Given the description of an element on the screen output the (x, y) to click on. 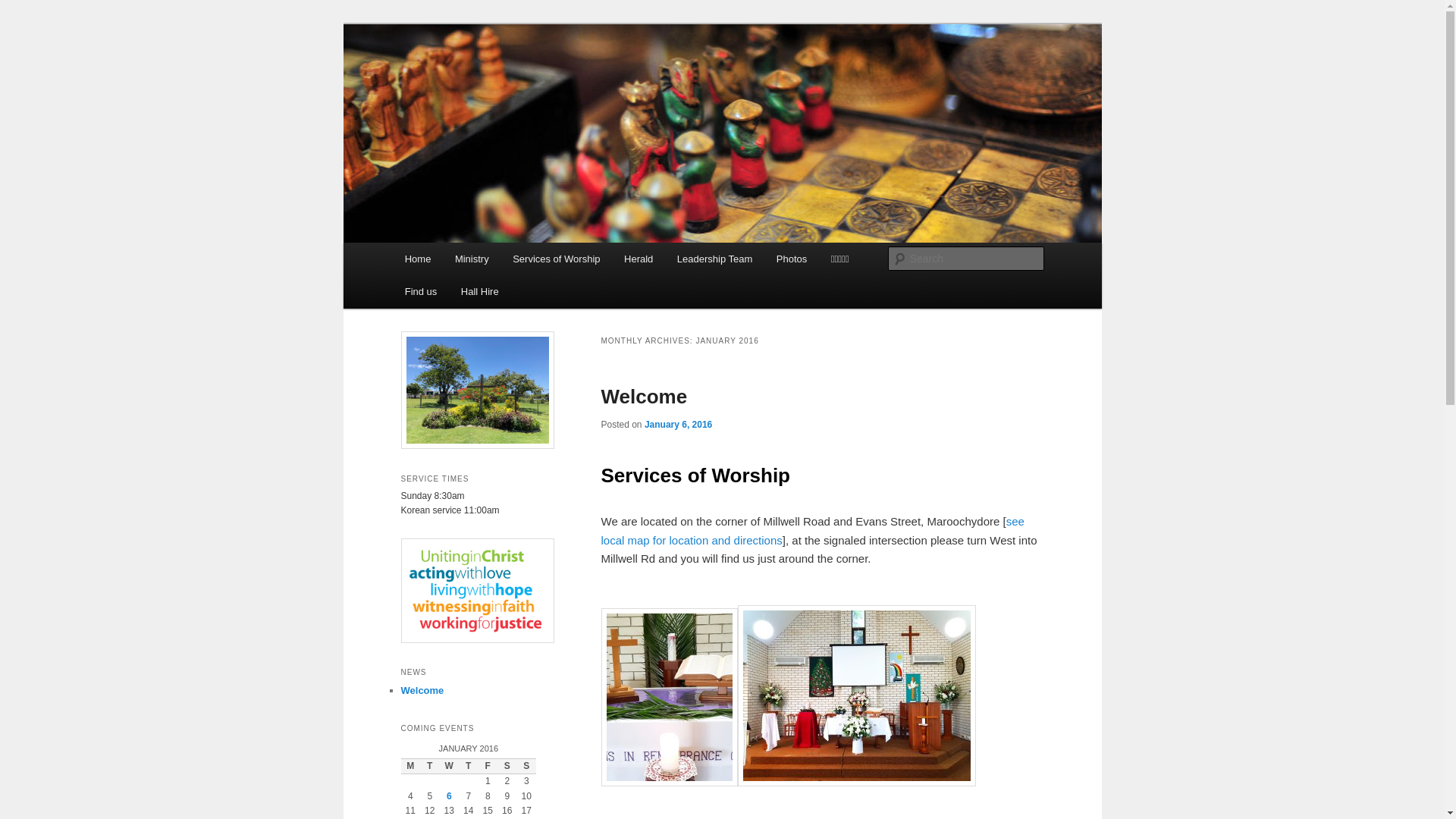
Welcome Element type: text (421, 690)
see local map for location and directions Element type: text (811, 530)
Home Element type: text (417, 258)
January 6, 2016 Element type: text (678, 424)
Herald Element type: text (638, 258)
Photos Element type: text (791, 258)
Leadership Team Element type: text (714, 258)
Find us Element type: text (420, 291)
Hall Hire Element type: text (479, 291)
Ministry Element type: text (471, 258)
Skip to primary content Element type: text (414, 242)
Welcome Element type: text (643, 396)
Services of Worship Element type: text (555, 258)
6 Element type: text (448, 795)
Search Element type: text (24, 8)
